Given the description of an element on the screen output the (x, y) to click on. 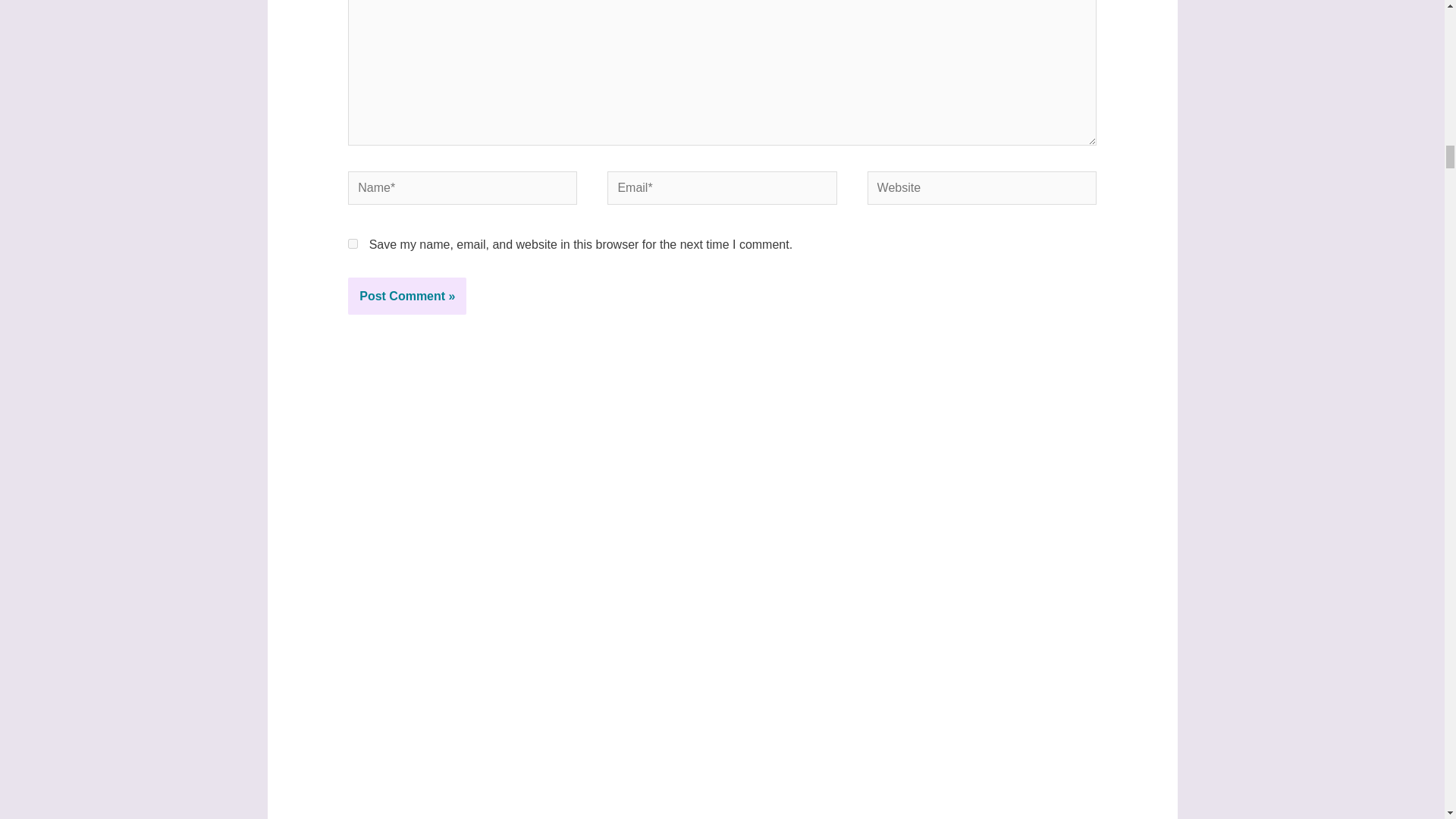
yes (352, 243)
